Given the description of an element on the screen output the (x, y) to click on. 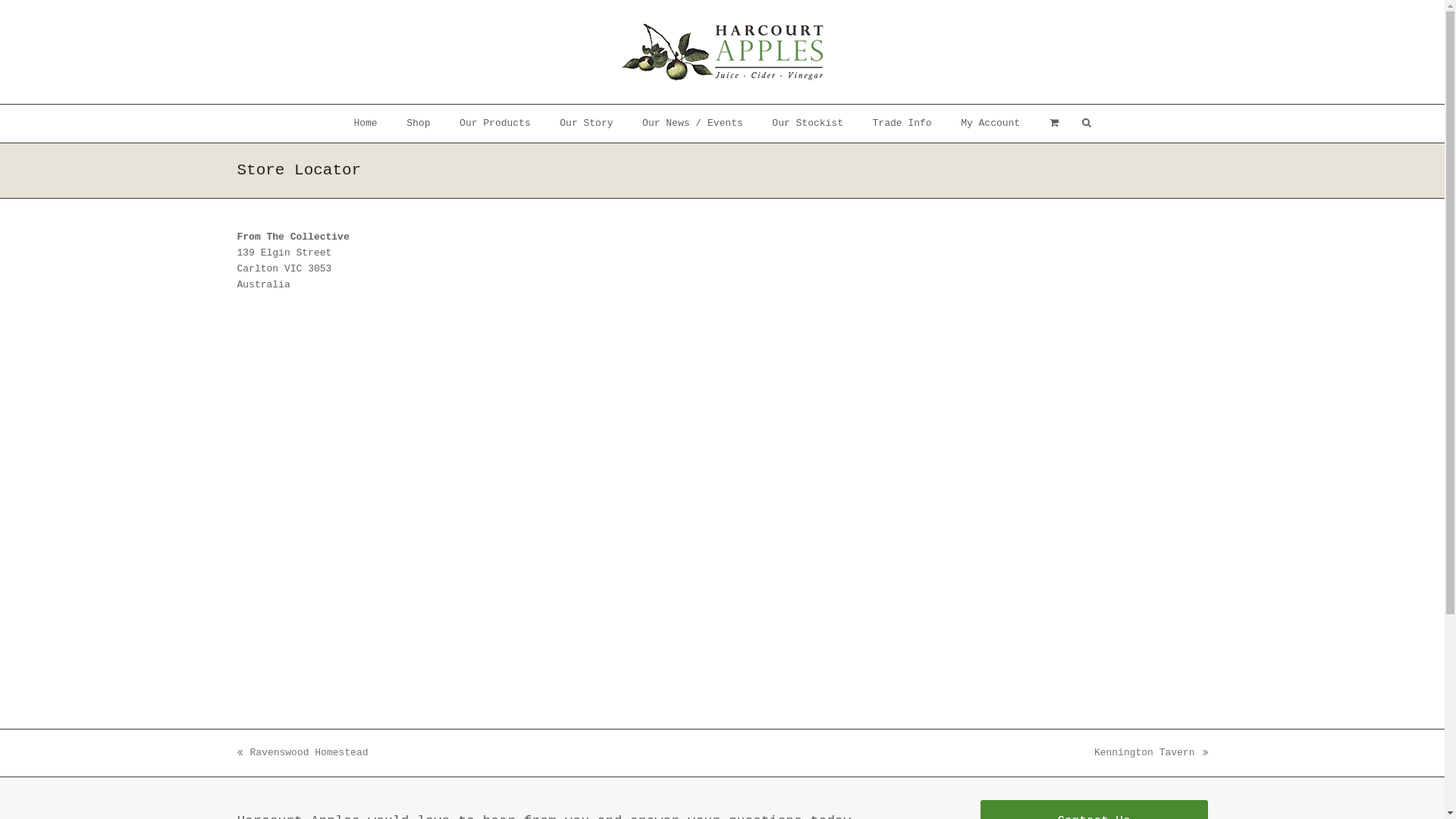
Home Element type: text (365, 123)
Trade Info Element type: text (901, 123)
Shop Element type: text (418, 123)
Our Products Element type: text (495, 123)
previous post:
Ravenswood Homestead Element type: text (301, 752)
Our Story Element type: text (586, 123)
next post:
Kennington Tavern Element type: text (1151, 752)
Our News / Events Element type: text (692, 123)
My Account Element type: text (990, 123)
Our Stockist Element type: text (807, 123)
